Given the description of an element on the screen output the (x, y) to click on. 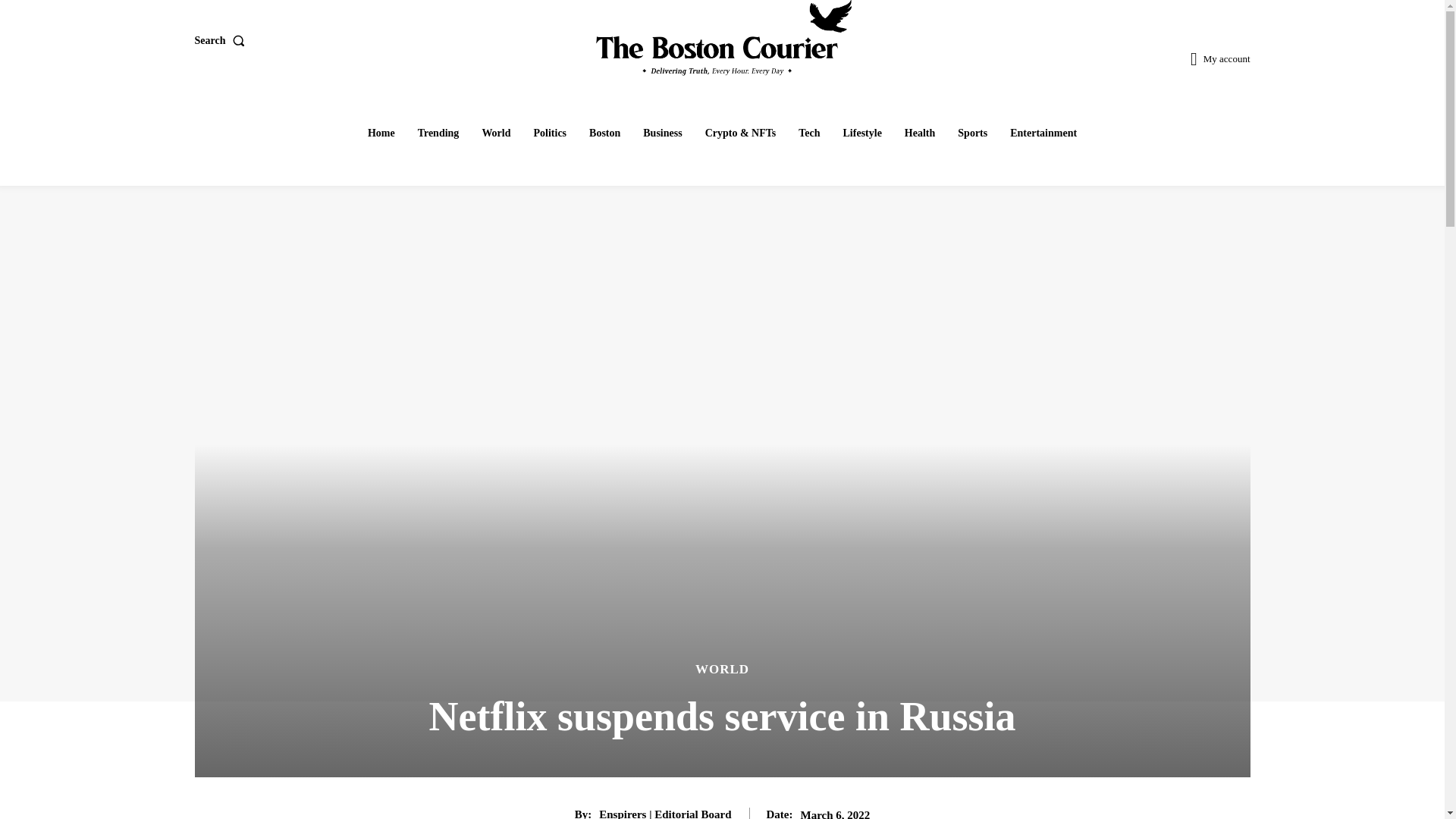
Home (381, 133)
Search (221, 40)
Trending (438, 133)
